Given the description of an element on the screen output the (x, y) to click on. 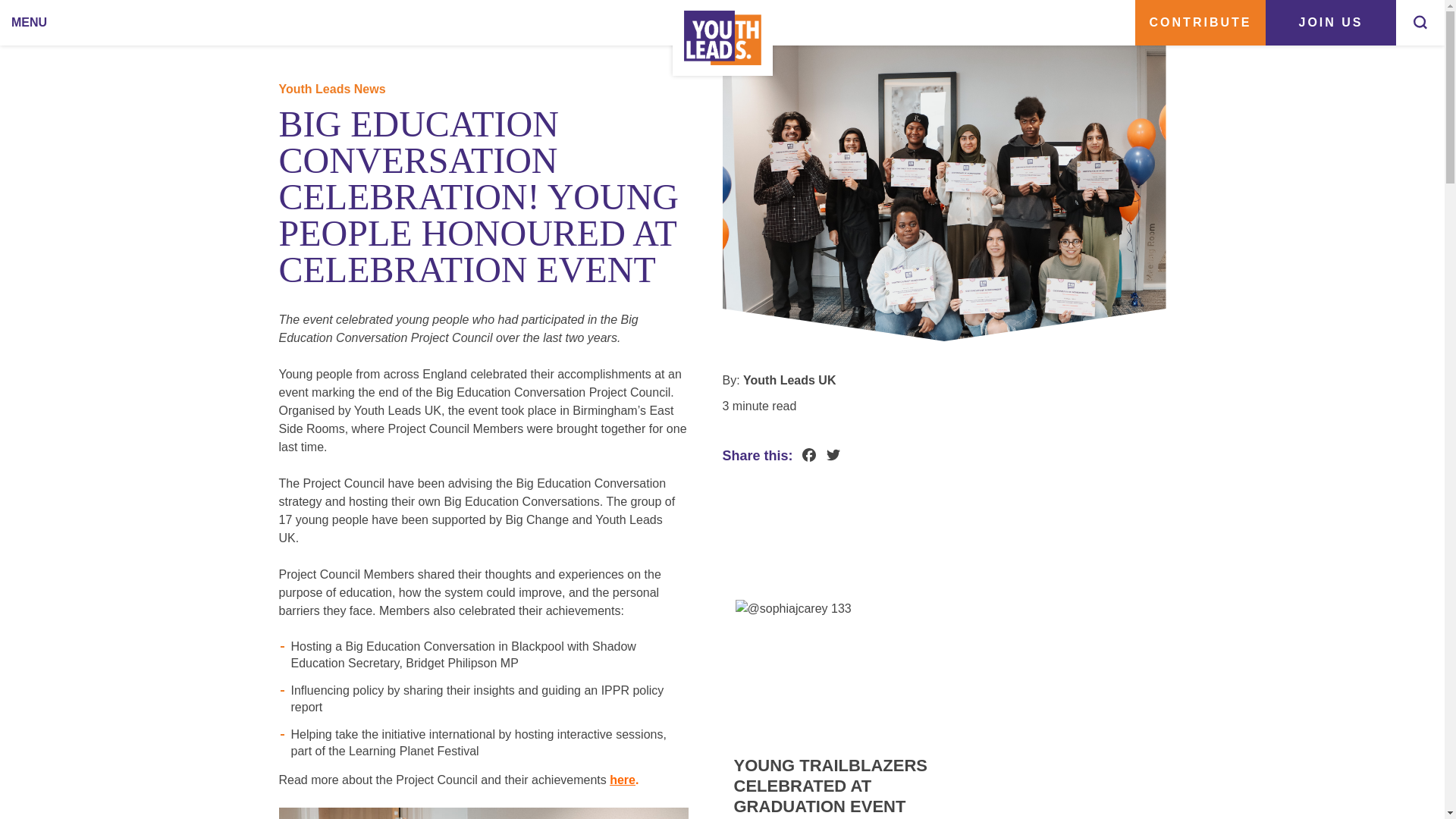
CONTRIBUTE (1200, 22)
JOIN US (1330, 22)
Twitter (833, 457)
Facebook (808, 457)
Facebook (808, 457)
Twitter (833, 457)
here (622, 780)
